Given the description of an element on the screen output the (x, y) to click on. 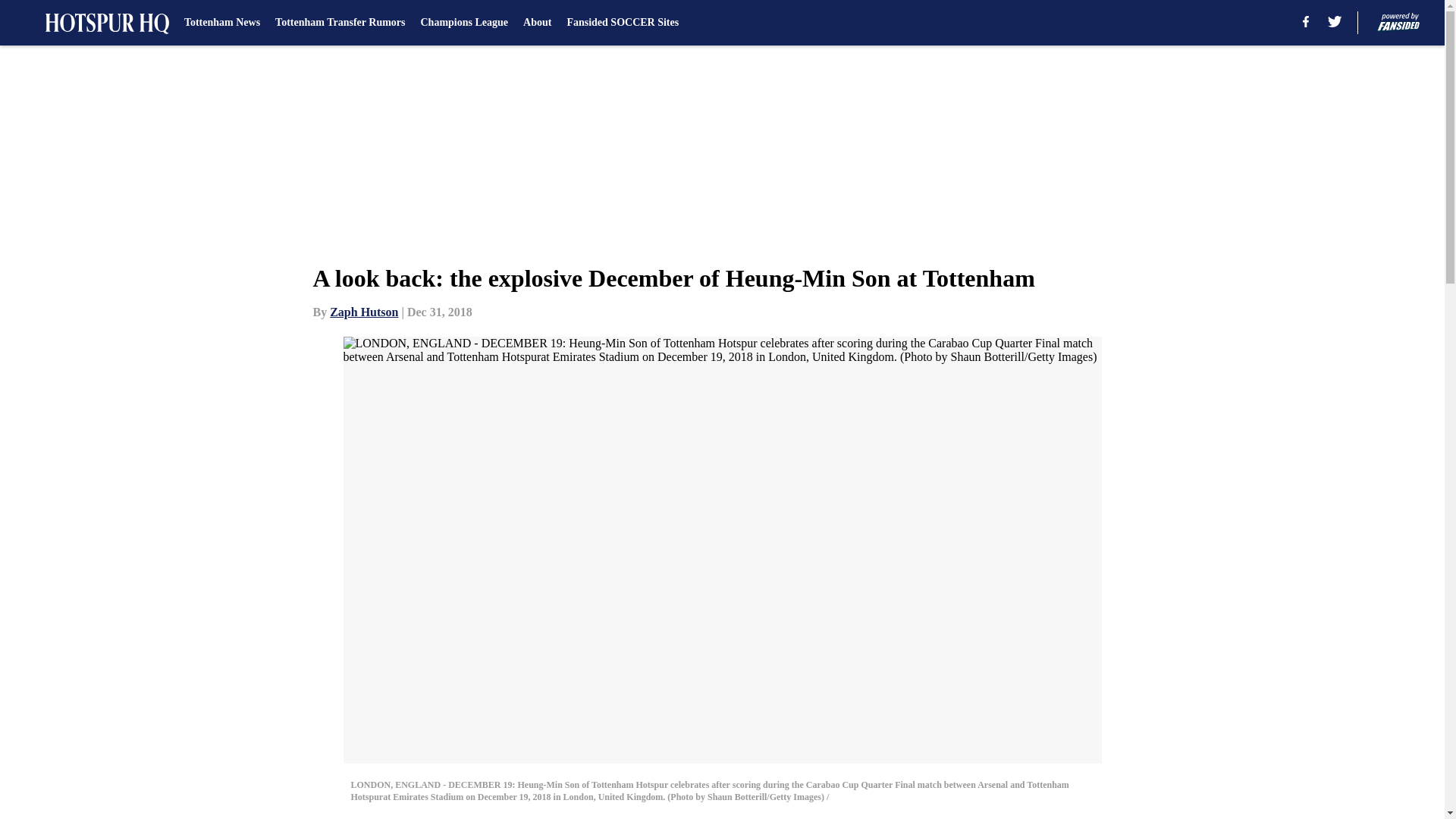
Tottenham Transfer Rumors (339, 22)
Zaph Hutson (363, 311)
Fansided SOCCER Sites (622, 22)
About (536, 22)
Champions League (464, 22)
Tottenham News (222, 22)
